Given the description of an element on the screen output the (x, y) to click on. 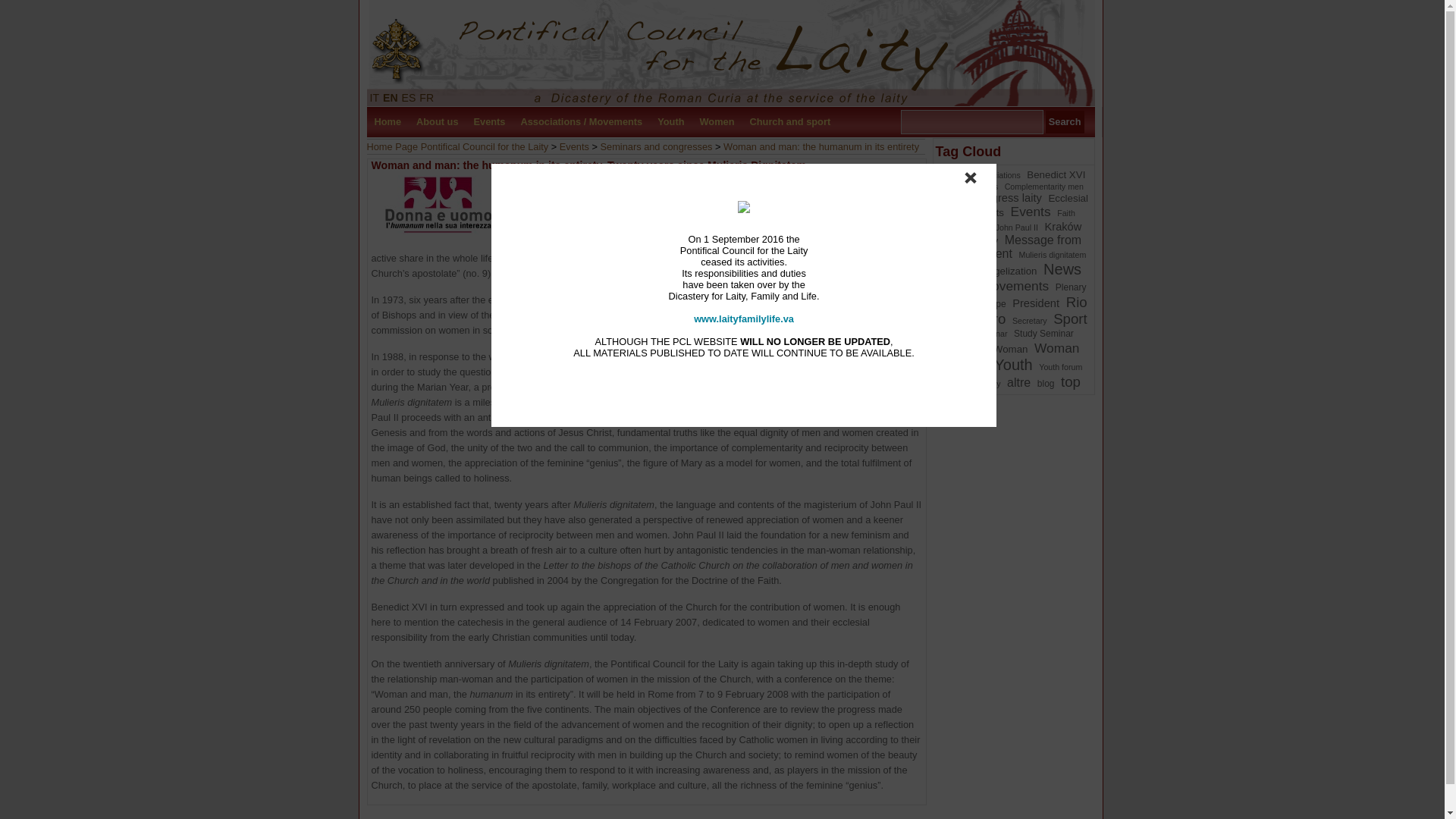
Benedict XVI (1055, 174)
Home (387, 122)
FR (426, 97)
Woman and man: the humanum in its entirety (820, 146)
Africa (956, 174)
Best practices (972, 185)
Women (717, 122)
Home Page Pontifical Council for the Laity (457, 146)
ES (408, 97)
Search (1064, 121)
Church and sport (789, 122)
logo-donna-uomo (437, 204)
Laici (730, 53)
Associations (997, 174)
Events (574, 146)
